Given the description of an element on the screen output the (x, y) to click on. 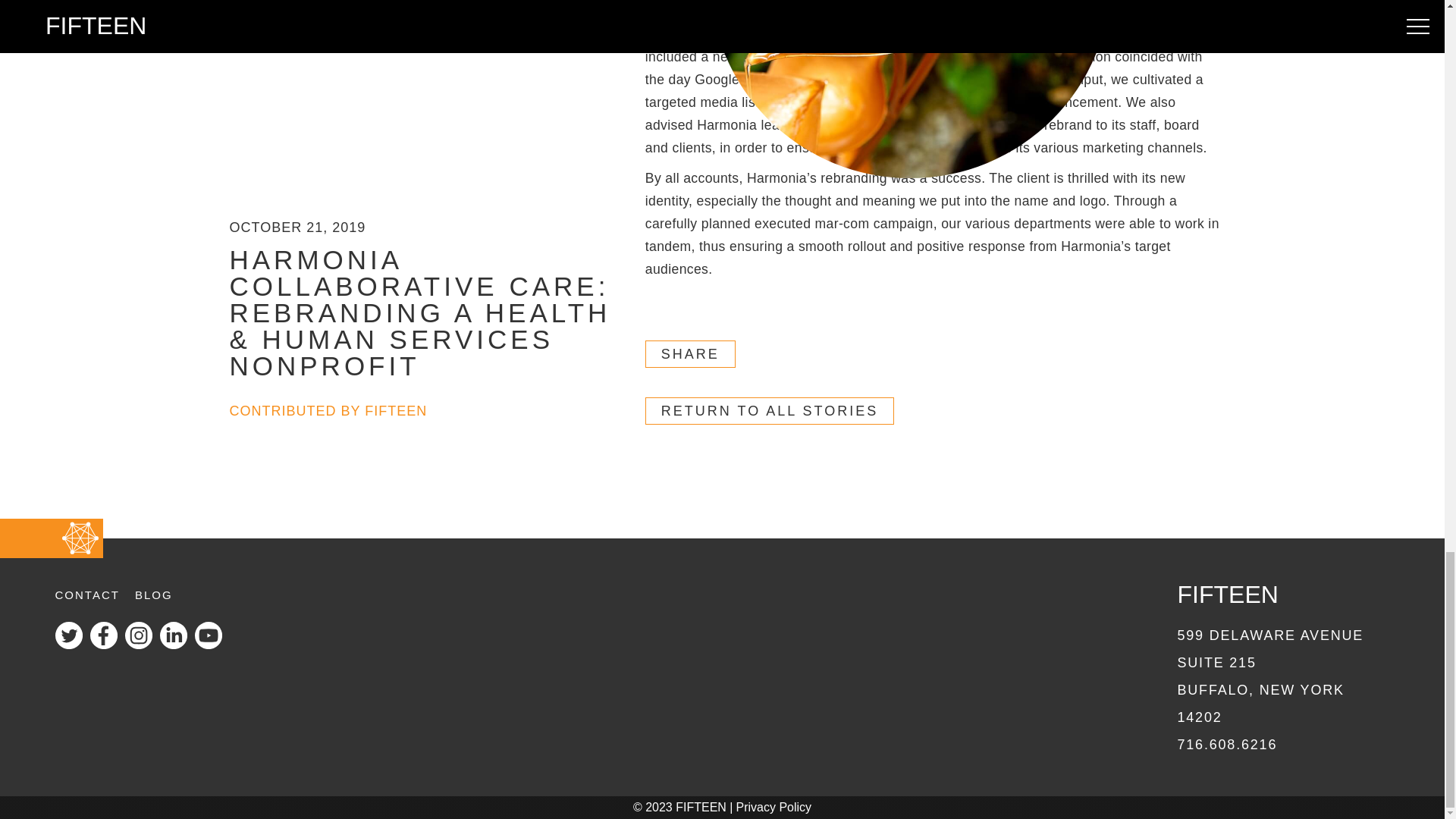
CONTACT (1269, 676)
RETURN TO ALL STORIES (87, 594)
716.608.6216 (769, 411)
SHARE (1226, 744)
